Given the description of an element on the screen output the (x, y) to click on. 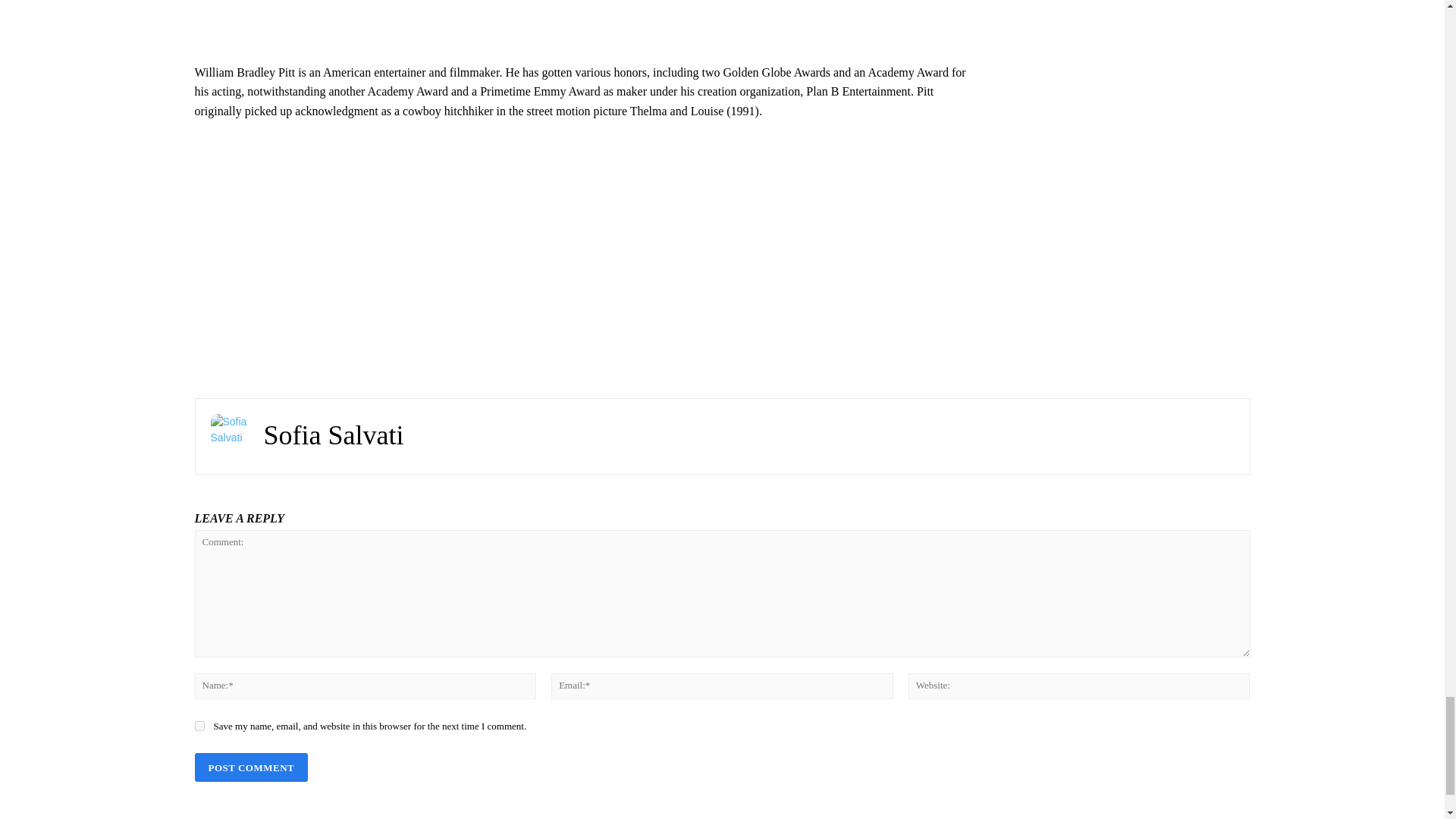
Post Comment (250, 767)
yes (198, 726)
